Given the description of an element on the screen output the (x, y) to click on. 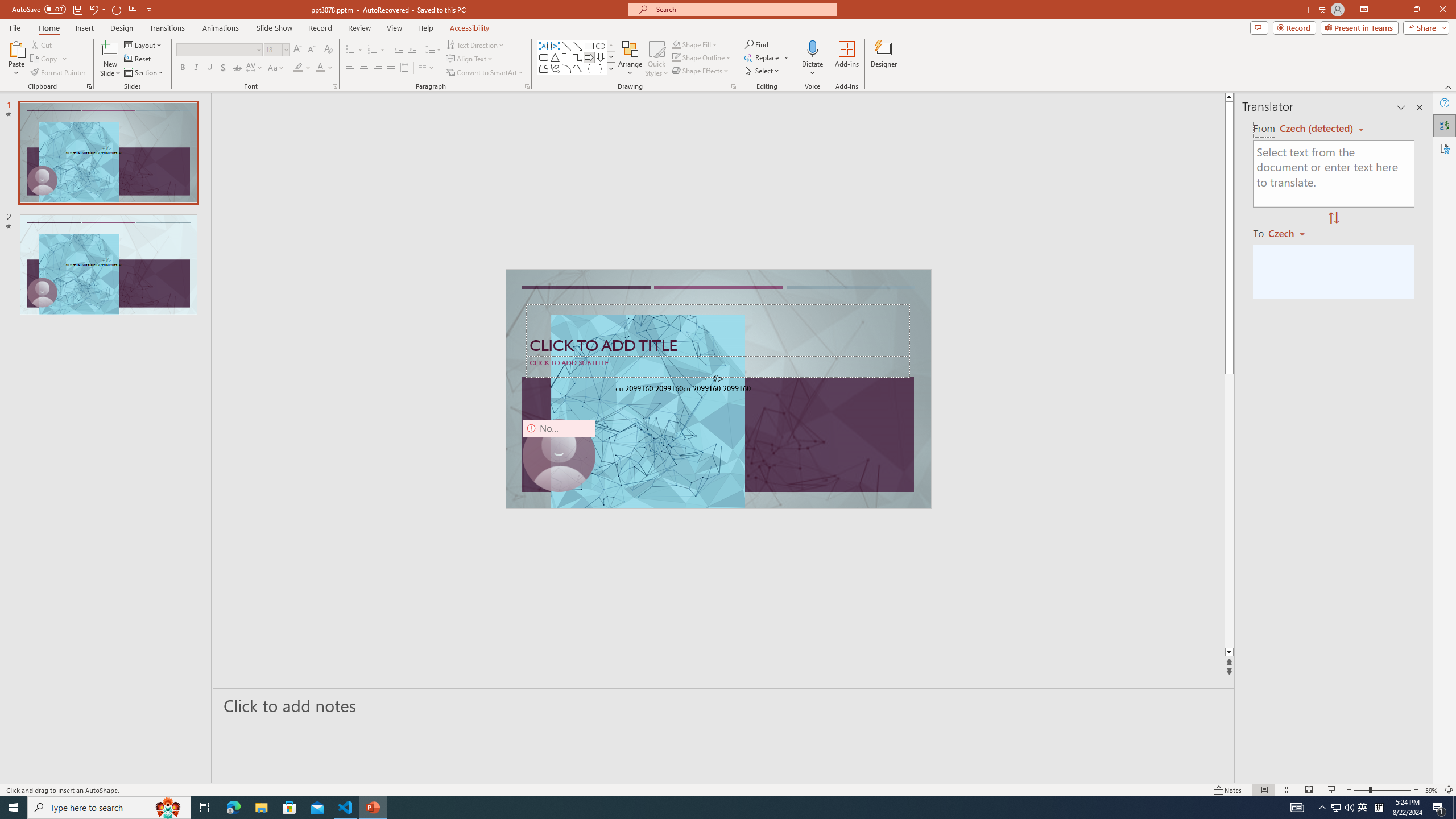
TextBox 61 (717, 389)
